Given the description of an element on the screen output the (x, y) to click on. 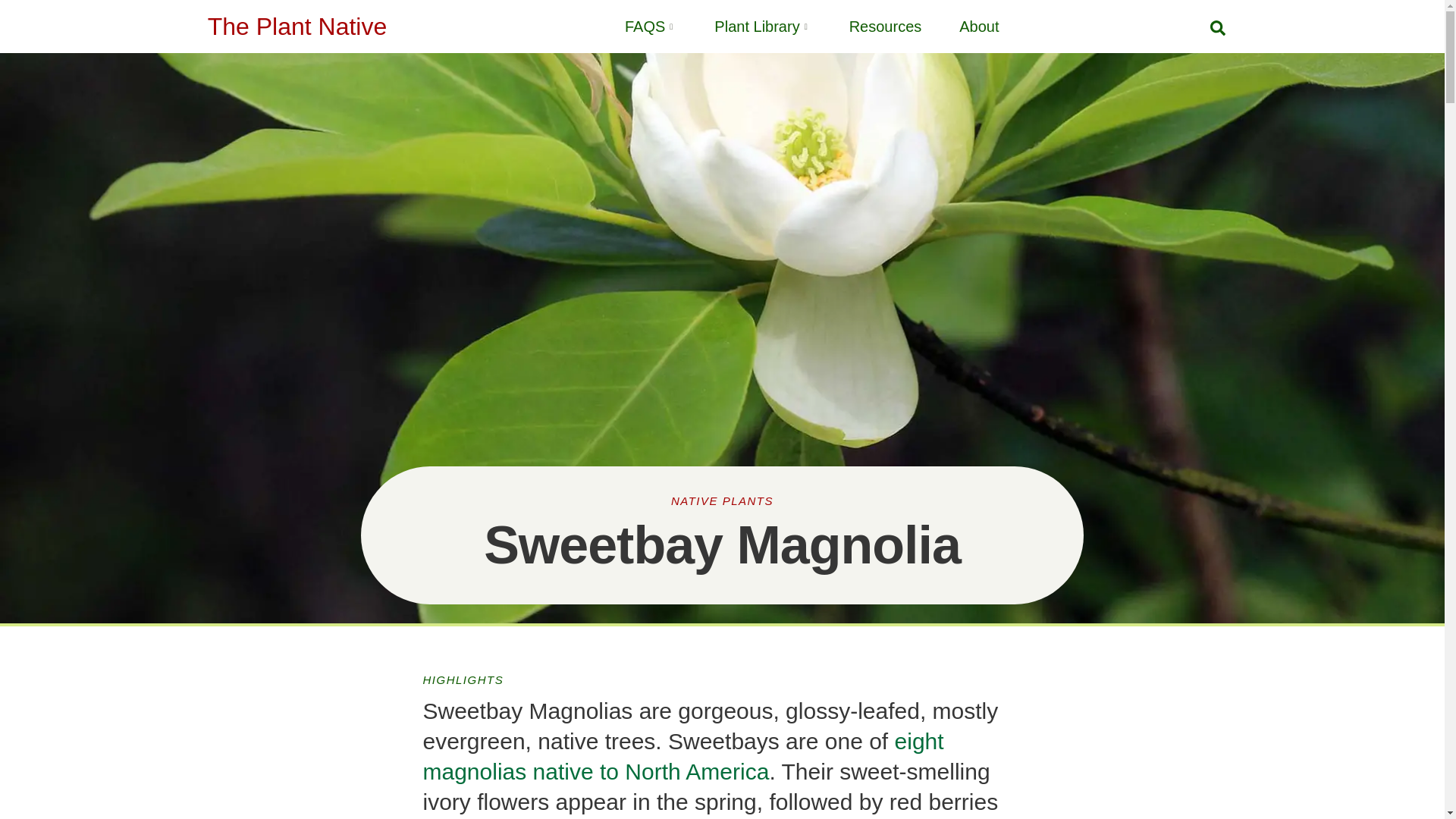
NATIVE PLANTS (722, 500)
FAQS (631, 26)
eight magnolias native to North America (683, 755)
Plant Library (743, 26)
Resources (865, 26)
The Plant Native (297, 25)
About (959, 26)
